Given the description of an element on the screen output the (x, y) to click on. 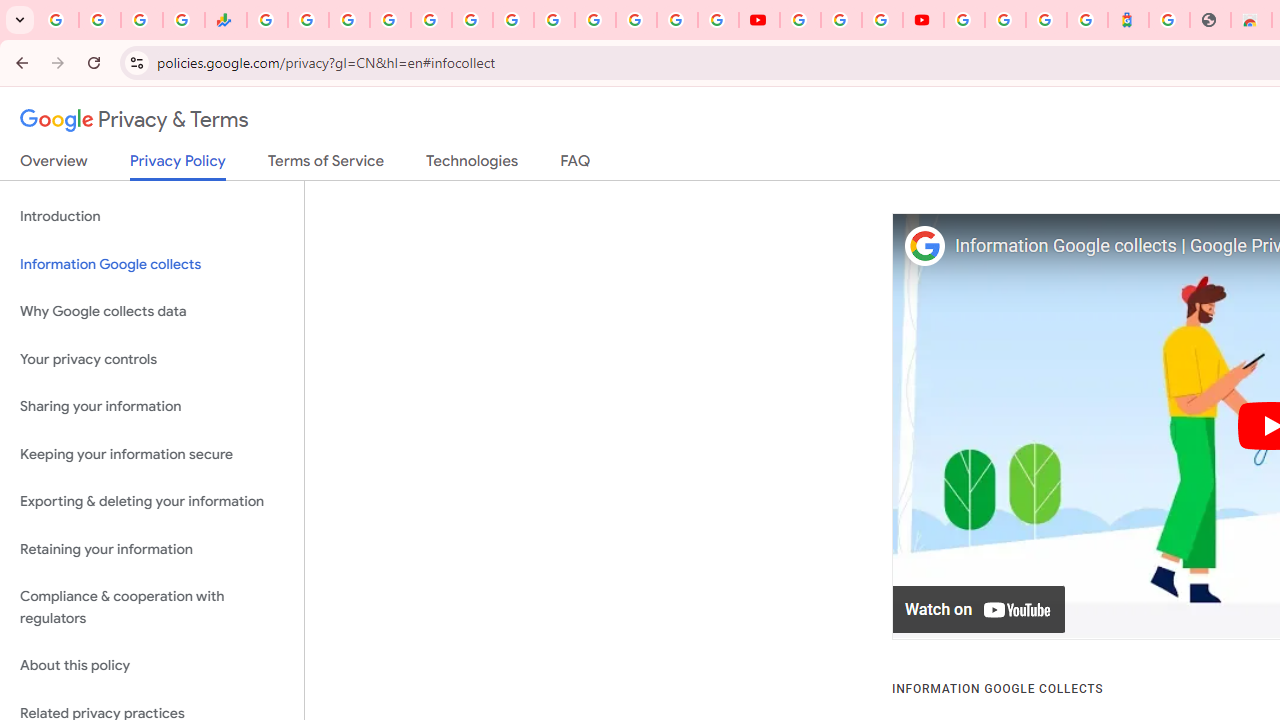
Sign in - Google Accounts (676, 20)
Google Account Help (840, 20)
Photo image of Google (924, 246)
Your privacy controls (152, 358)
YouTube (758, 20)
Keeping your information secure (152, 453)
Android TV Policies and Guidelines - Transparency Center (512, 20)
Create your Google Account (881, 20)
Privacy Checkup (717, 20)
